Given the description of an element on the screen output the (x, y) to click on. 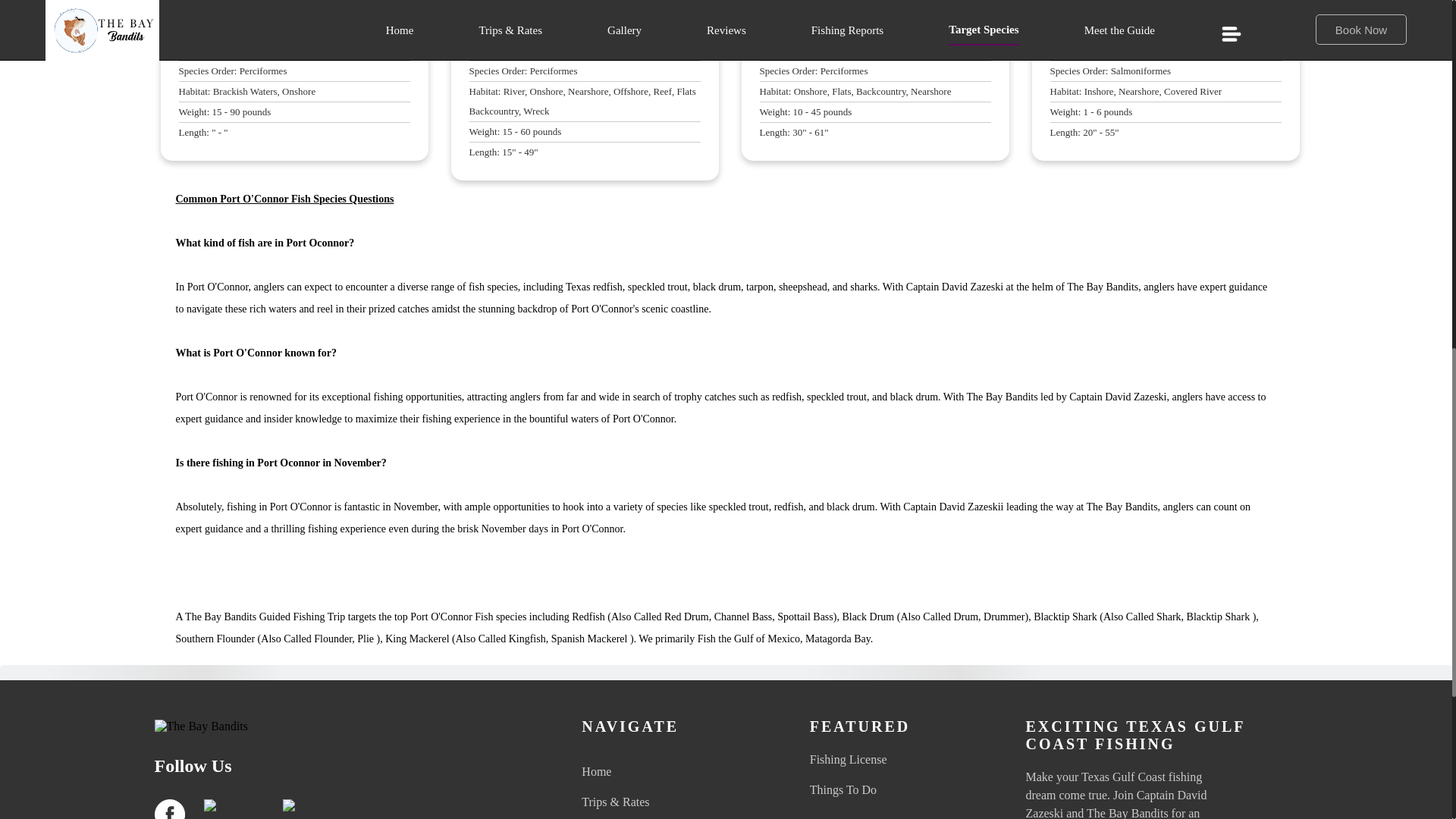
Things To Do (903, 790)
Fishing License (903, 760)
Home (675, 771)
